Given the description of an element on the screen output the (x, y) to click on. 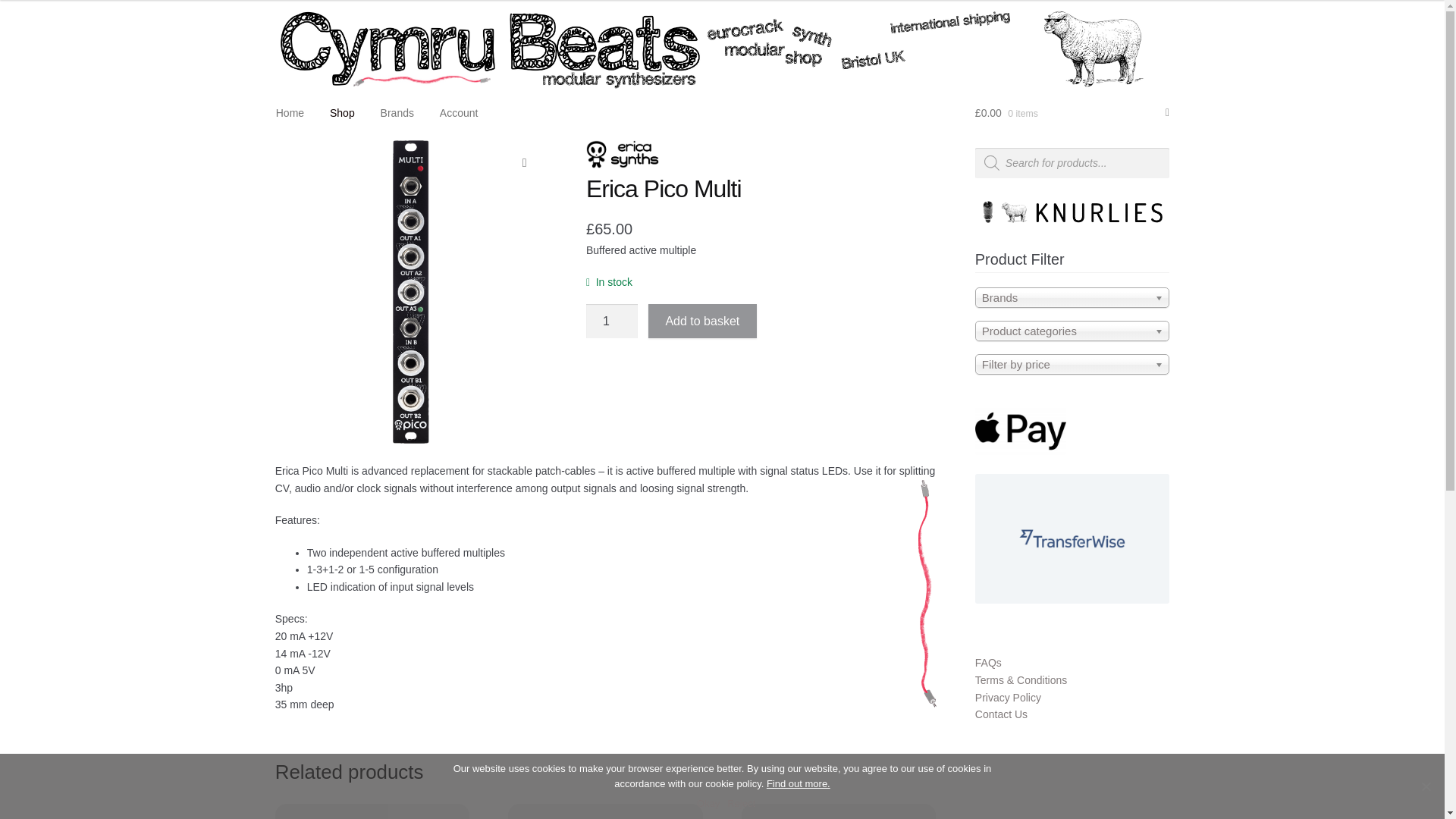
Brands (397, 112)
Account (458, 112)
Reject (1425, 785)
Qty (611, 321)
Shop (342, 112)
Home (289, 112)
Brands (1072, 297)
Add to basket (702, 321)
Product categories (1072, 331)
1 (611, 321)
View your shopping basket (1072, 112)
